Given the description of an element on the screen output the (x, y) to click on. 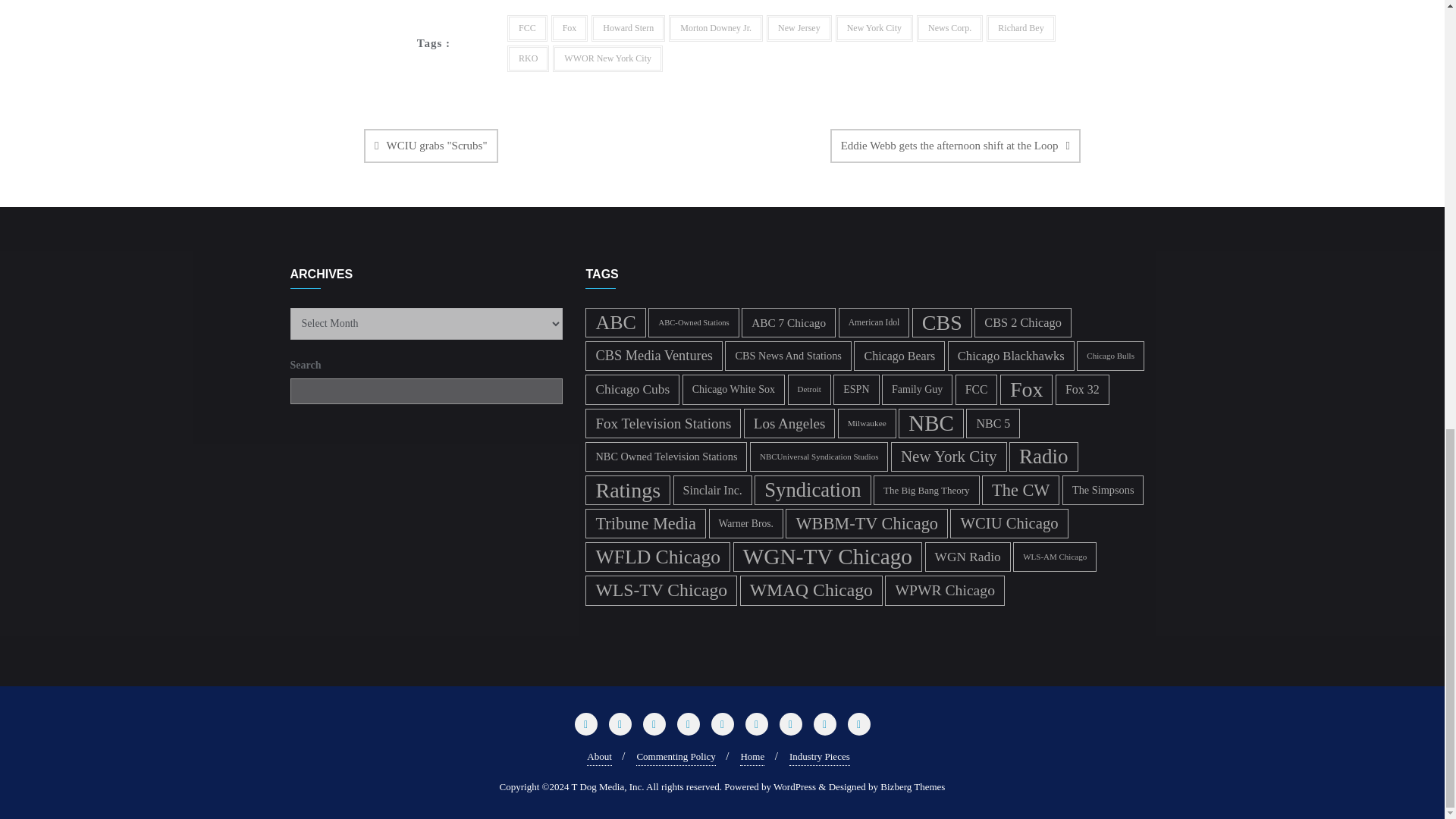
News Corp. (949, 28)
Richard Bey (1020, 28)
Eddie Webb gets the afternoon shift at the Loop (954, 145)
RKO (527, 58)
Howard Stern (628, 28)
WWOR New York City (607, 58)
ABC (615, 322)
ABC-Owned Stations (692, 322)
New York City (873, 28)
WCIU grabs "Scrubs" (430, 145)
